Given the description of an element on the screen output the (x, y) to click on. 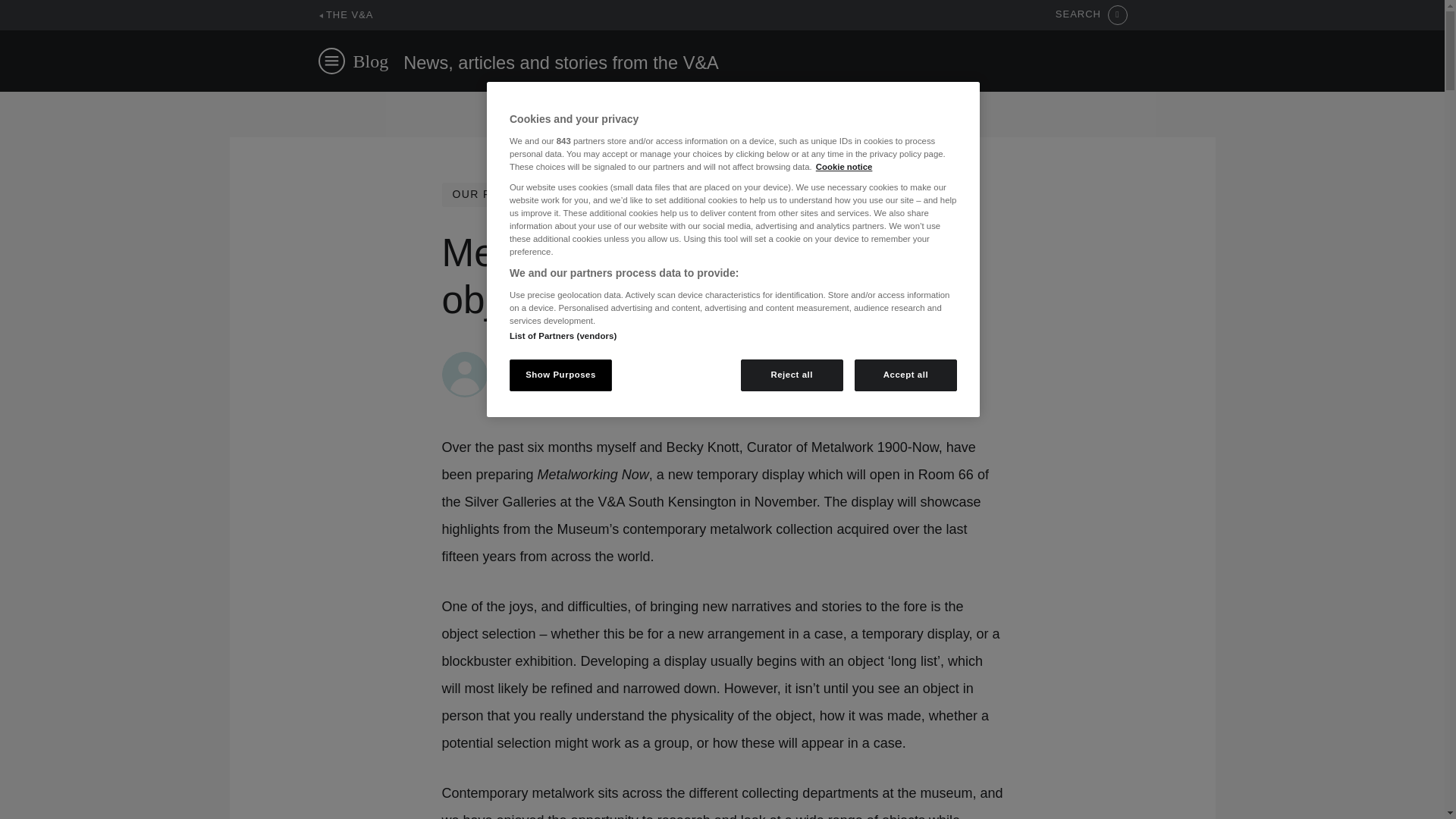
Clementine Loustric (550, 359)
OUR PROJECTS (499, 194)
Blog (370, 60)
SEARCH (1090, 15)
Posts by Clementine Loustric (550, 359)
